Given the description of an element on the screen output the (x, y) to click on. 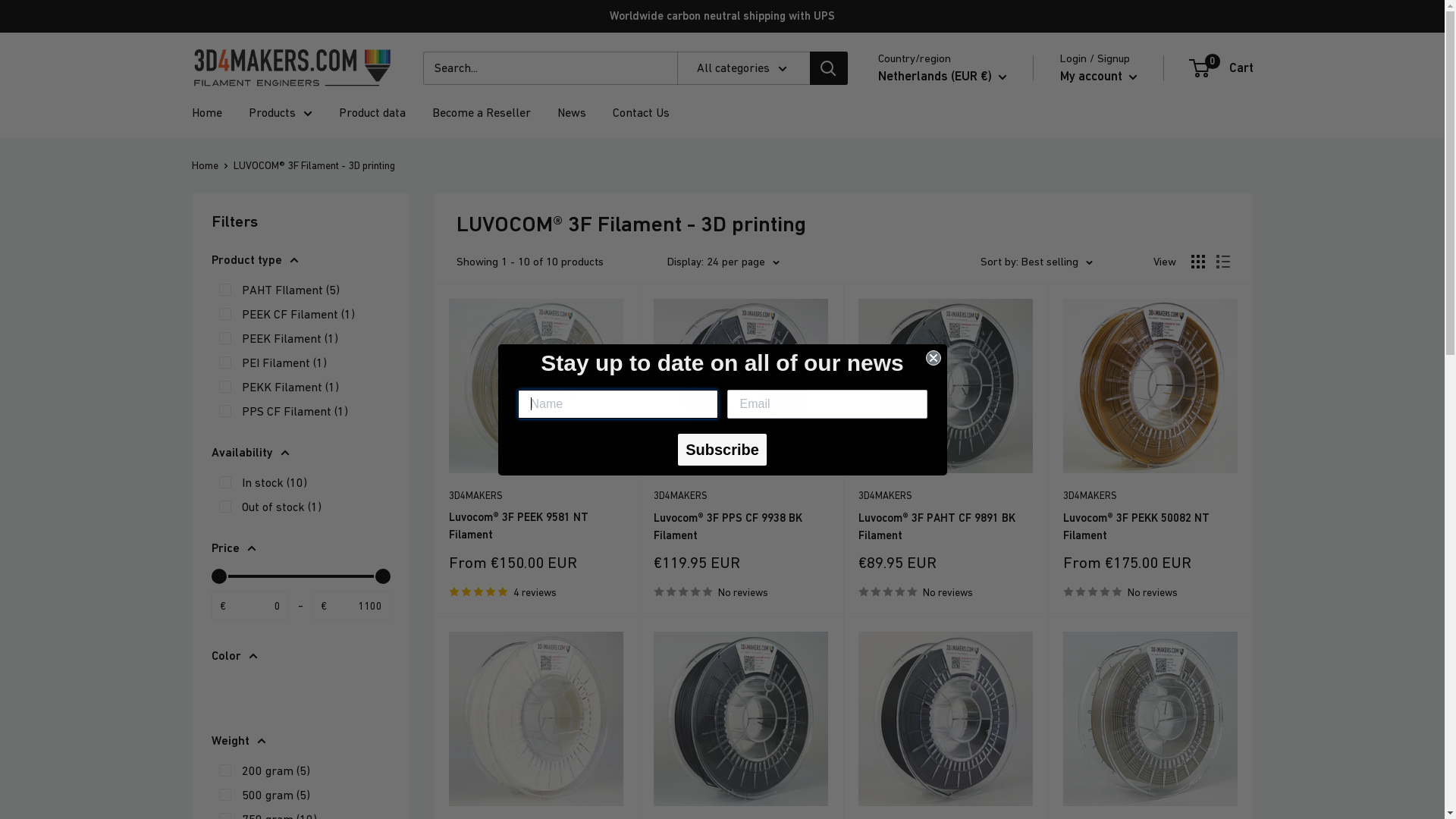
AU Element type: text (884, 404)
BY Element type: text (884, 566)
Price Element type: text (299, 547)
Contact Us Element type: text (640, 112)
AT Element type: text (884, 427)
Home Element type: text (204, 165)
Become a Reseller Element type: text (481, 112)
Home Element type: text (206, 112)
No reviews Element type: text (740, 591)
AW Element type: text (884, 358)
AO Element type: text (884, 242)
Product data Element type: text (371, 112)
Display: 24 per page Element type: text (723, 261)
BS Element type: text (884, 473)
3D4Makers.com | 3D Printing Filament Element type: text (291, 67)
Weight Element type: text (299, 740)
Submit Element type: text (18, 6)
BJ Element type: text (884, 636)
IO Element type: text (884, 797)
No reviews Element type: text (945, 591)
3D4MAKERS Element type: text (1150, 495)
BT Element type: text (884, 682)
AR Element type: text (884, 311)
3D4MAKERS Element type: text (740, 495)
AM Element type: text (884, 335)
BR Element type: text (884, 774)
Close dialog 1 Element type: text (932, 357)
BM Element type: text (884, 658)
BD Element type: text (884, 520)
News Element type: text (570, 112)
AL Element type: text (884, 172)
AC Element type: text (884, 381)
3D4MAKERS Element type: text (945, 495)
BO Element type: text (884, 705)
AF Element type: text (884, 126)
Subscribe Element type: text (721, 449)
Color Element type: text (299, 655)
AZ Element type: text (884, 451)
BH Element type: text (884, 497)
BB Element type: text (884, 543)
Products Element type: text (280, 112)
Sort by: Best selling Element type: text (1035, 261)
Product type Element type: text (299, 259)
BZ Element type: text (884, 612)
AG Element type: text (884, 288)
4 reviews Element type: text (535, 591)
AX Element type: text (884, 150)
AI Element type: text (884, 265)
No reviews Element type: text (1150, 591)
Availability Element type: text (299, 452)
AD Element type: text (884, 219)
BW Element type: text (884, 751)
3D4MAKERS Element type: text (535, 495)
BA Element type: text (884, 728)
My account Element type: text (1098, 76)
0
Cart Element type: text (1221, 68)
BE Element type: text (884, 589)
DZ Element type: text (884, 196)
